Given the description of an element on the screen output the (x, y) to click on. 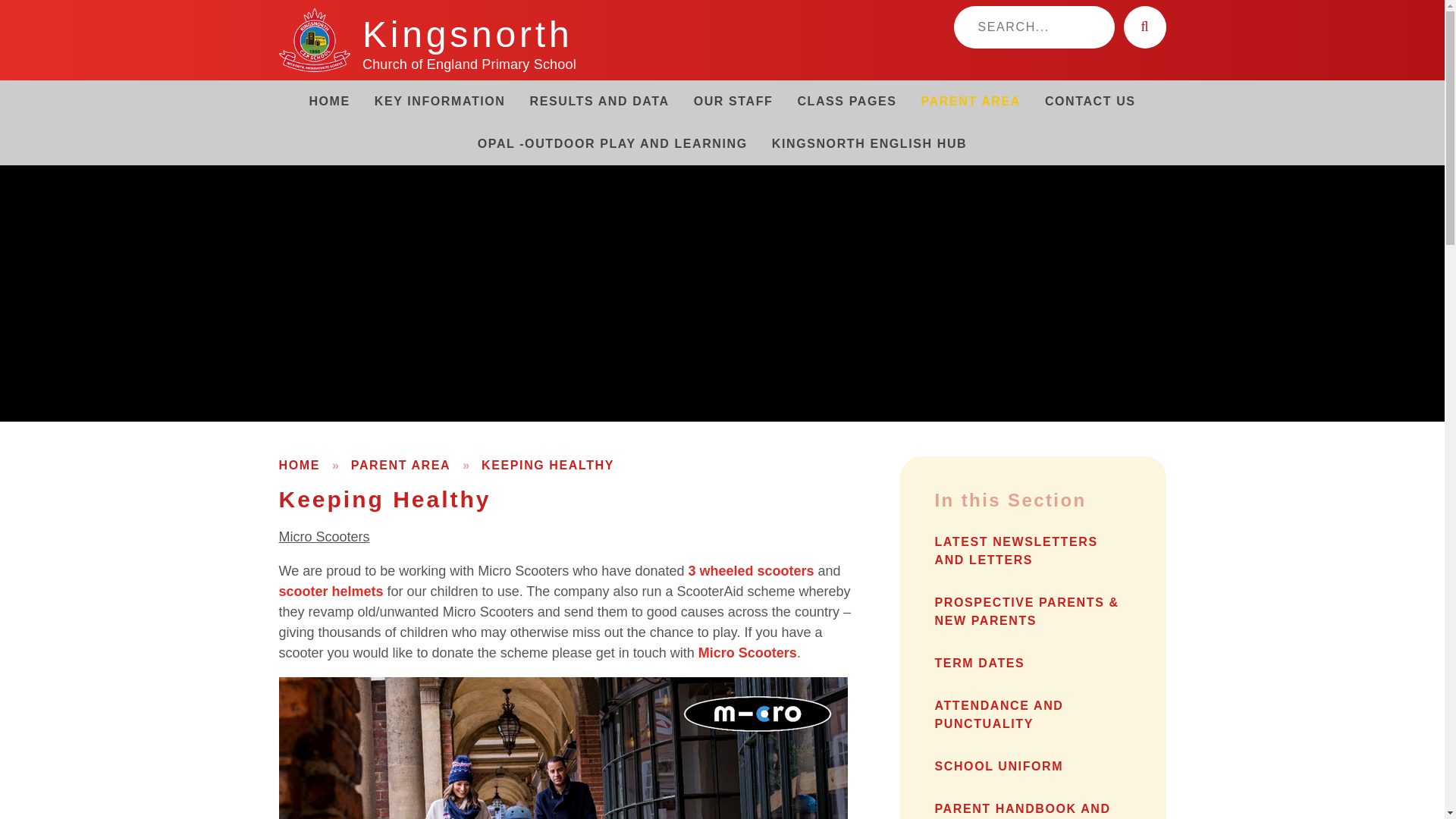
KEY INFORMATION (440, 101)
RESULTS AND DATA (599, 101)
HOME (329, 101)
